Given the description of an element on the screen output the (x, y) to click on. 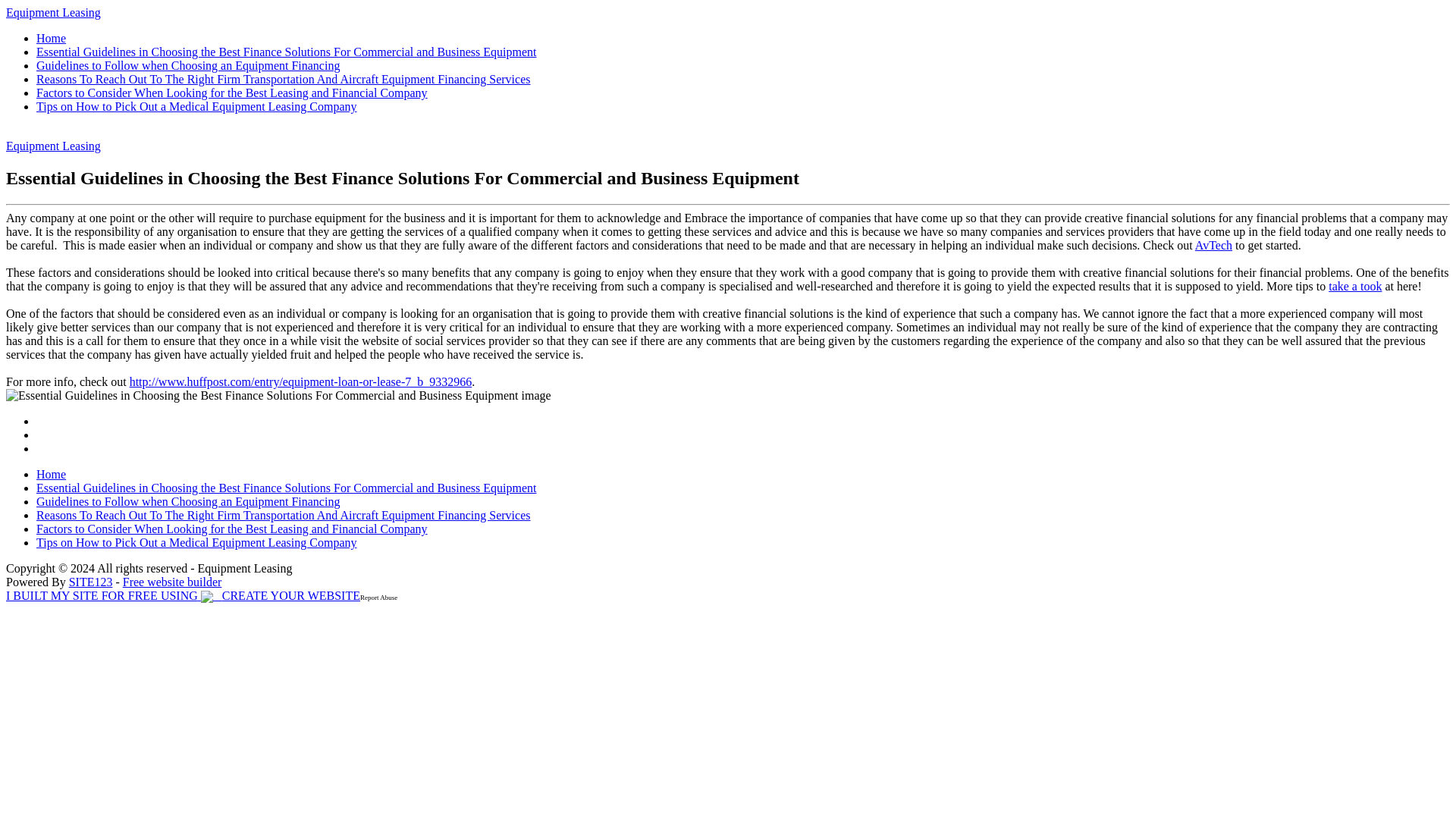
SITE123 (90, 581)
Guidelines to Follow when Choosing an Equipment Financing (187, 65)
Home (50, 473)
Tips on How to Pick Out a Medical Equipment Leasing Company (196, 542)
Free website builder (172, 581)
Equipment Leasing (52, 11)
Equipment Leasing (52, 145)
Tips on How to Pick Out a Medical Equipment Leasing Company (196, 106)
Home (50, 38)
